Given the description of an element on the screen output the (x, y) to click on. 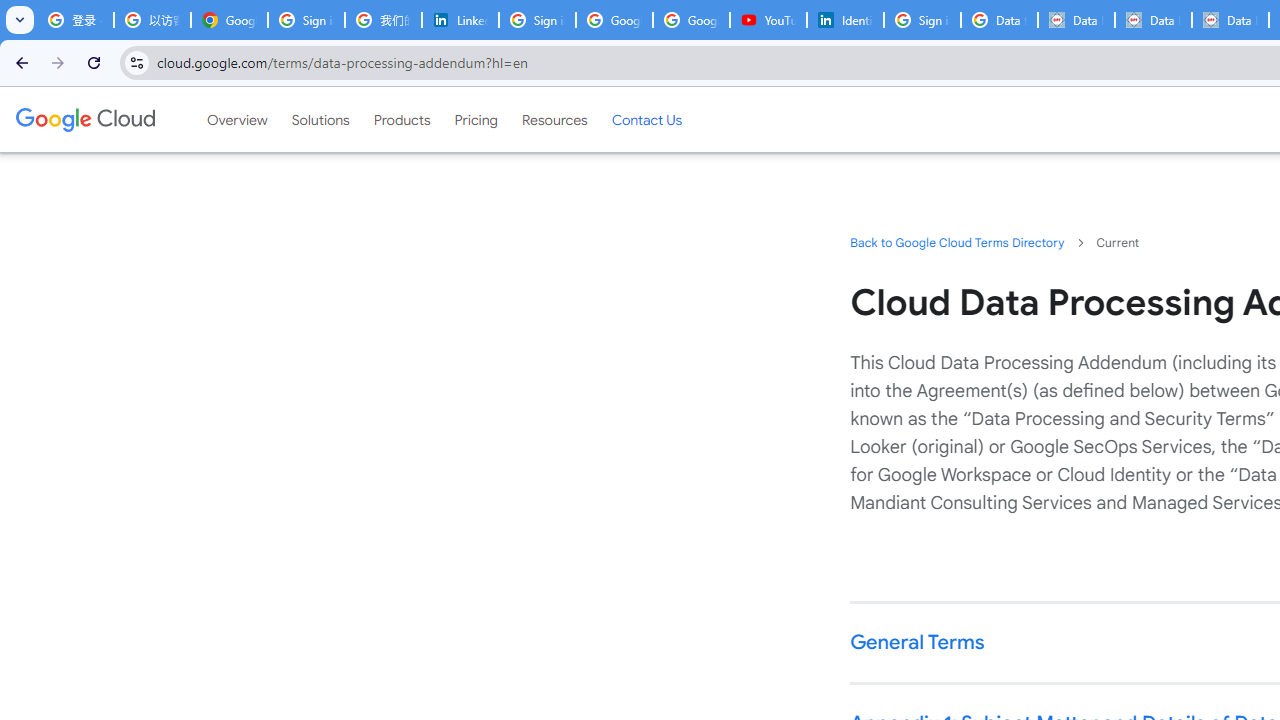
Back to Google Cloud Terms Directory (956, 241)
